Given the description of an element on the screen output the (x, y) to click on. 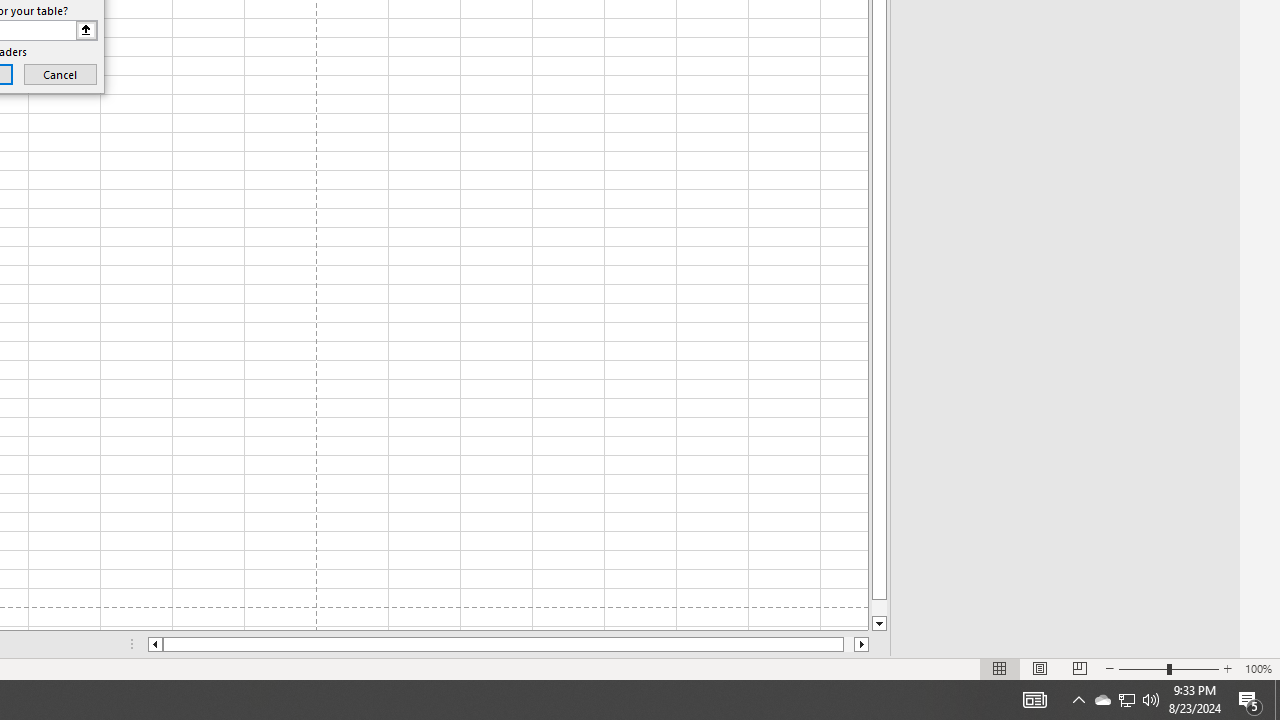
Column left (153, 644)
Zoom In (1227, 668)
Column right (861, 644)
Page Break Preview (1079, 668)
Line down (879, 624)
Zoom (1168, 668)
Normal (1000, 668)
Zoom Out (1142, 668)
Page down (879, 607)
Class: NetUIScrollBar (507, 644)
Page right (848, 644)
